Given the description of an element on the screen output the (x, y) to click on. 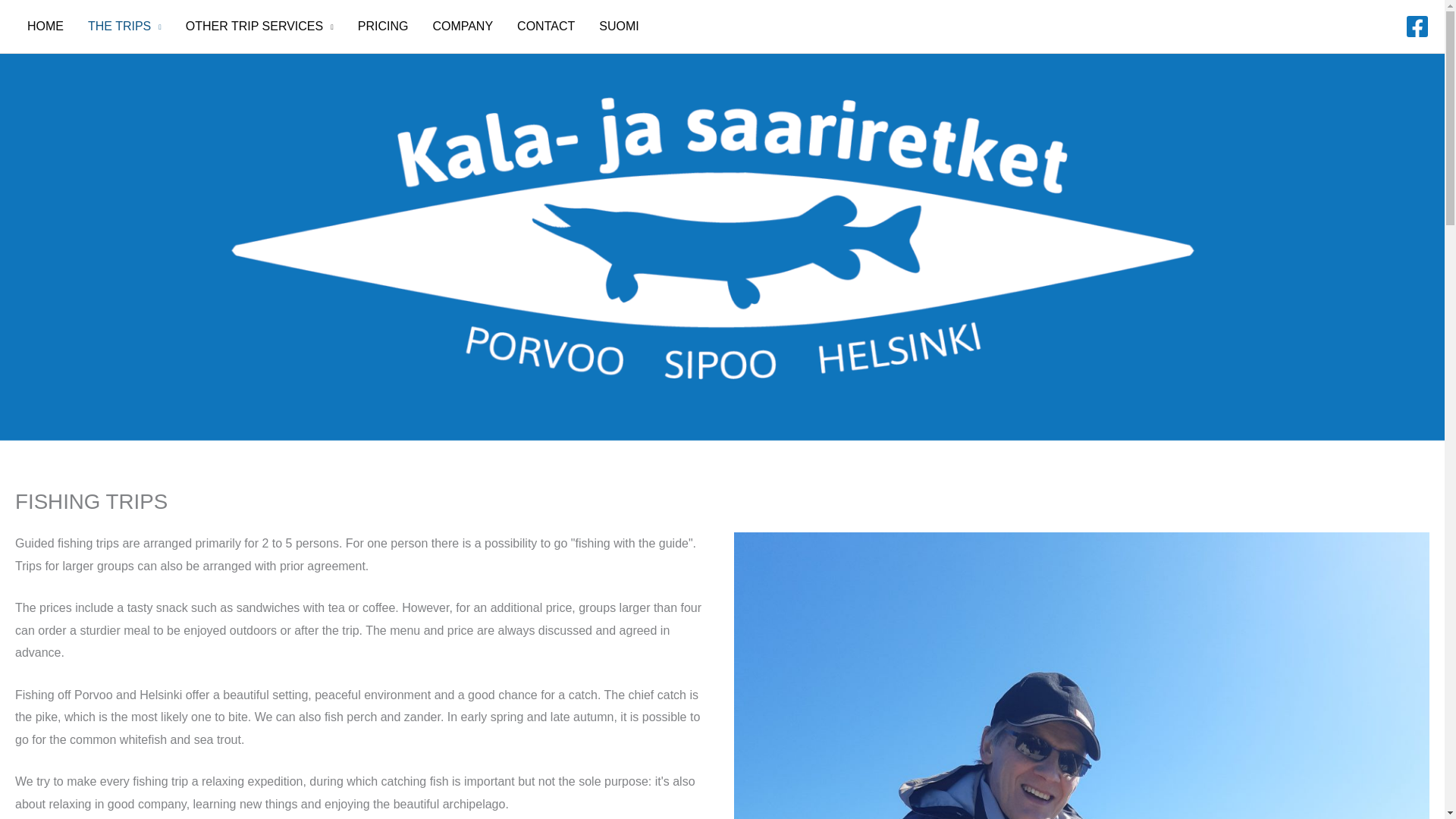
THE TRIPS (124, 26)
PRICING (383, 26)
OTHER TRIP SERVICES (259, 26)
HOME (44, 26)
COMPANY (462, 26)
SUOMI (618, 26)
CONTACT (545, 26)
